Given the description of an element on the screen output the (x, y) to click on. 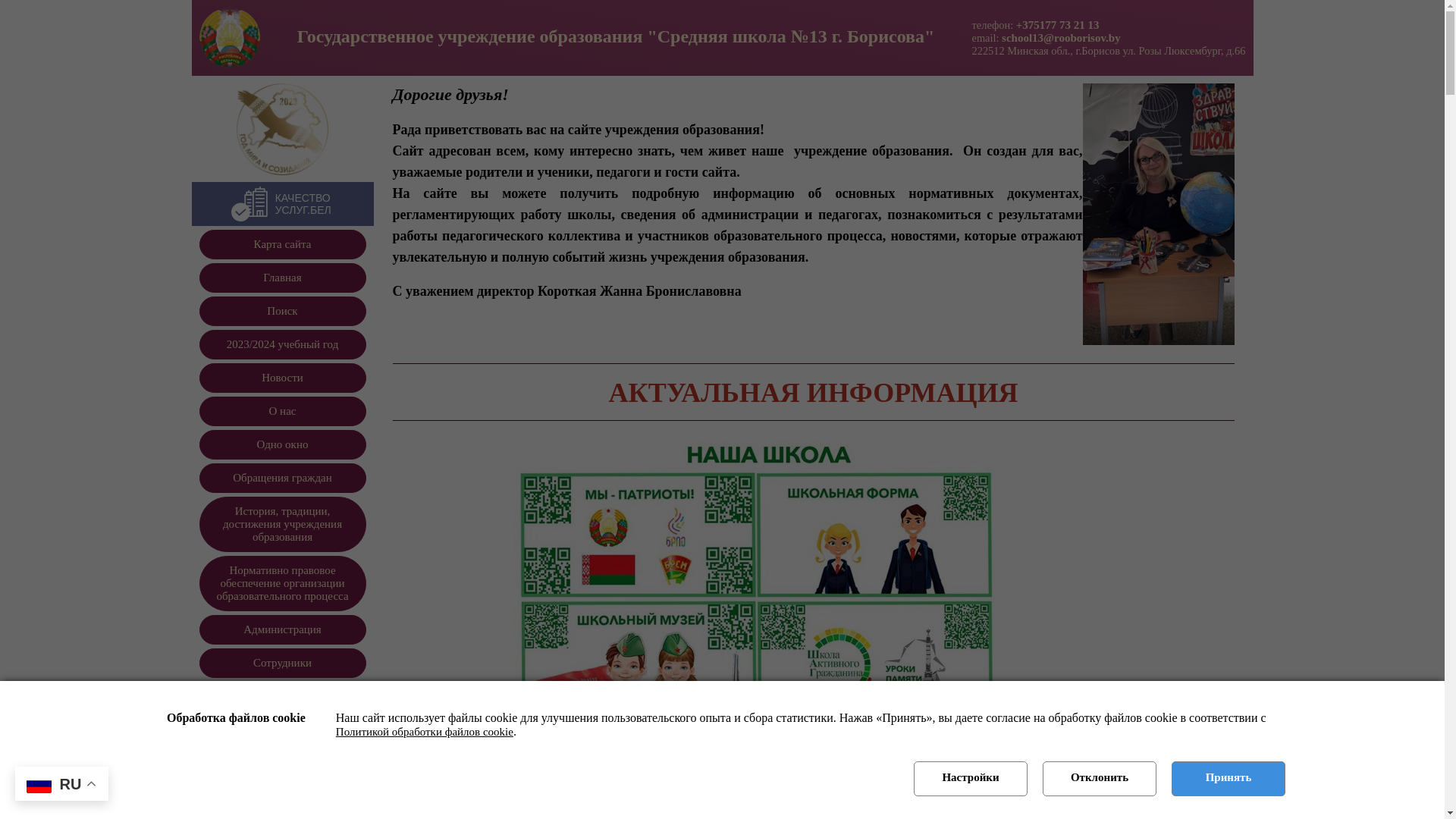
school13@rooborisov.by Element type: text (1060, 37)
+375177 73 21 13 Element type: text (1057, 24)
